Given the description of an element on the screen output the (x, y) to click on. 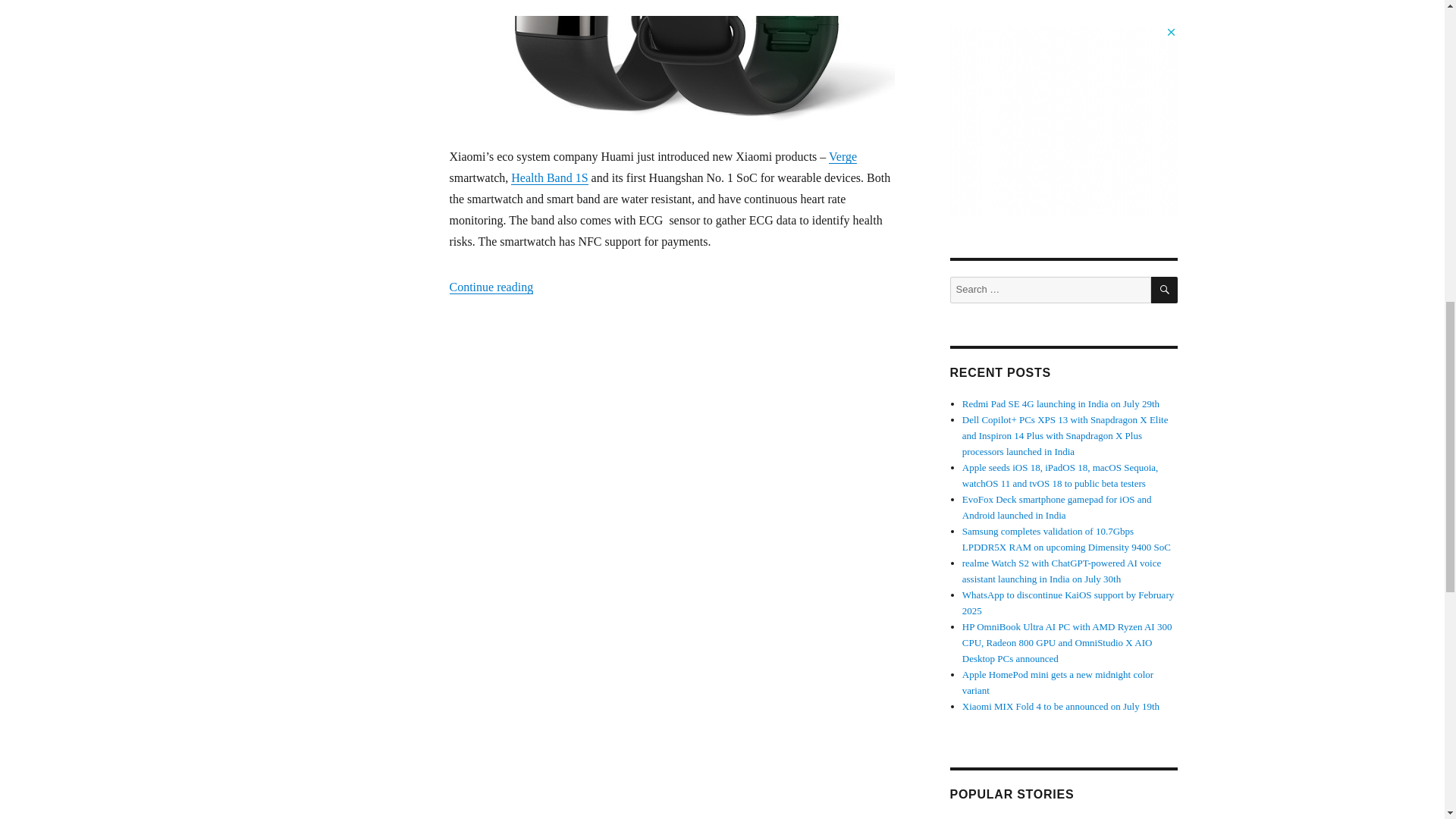
Xiaomi MIX Fold 4 to be announced on July 19th (1060, 706)
Health Band 1S (549, 177)
Apple HomePod mini gets a new midnight color variant (1057, 682)
WhatsApp to discontinue KaiOS support by February 2025 (1067, 602)
3rd party ad content (1062, 120)
Redmi Pad SE 4G launching in India on July 29th (1060, 403)
Verge (842, 155)
SEARCH (1164, 289)
